Given the description of an element on the screen output the (x, y) to click on. 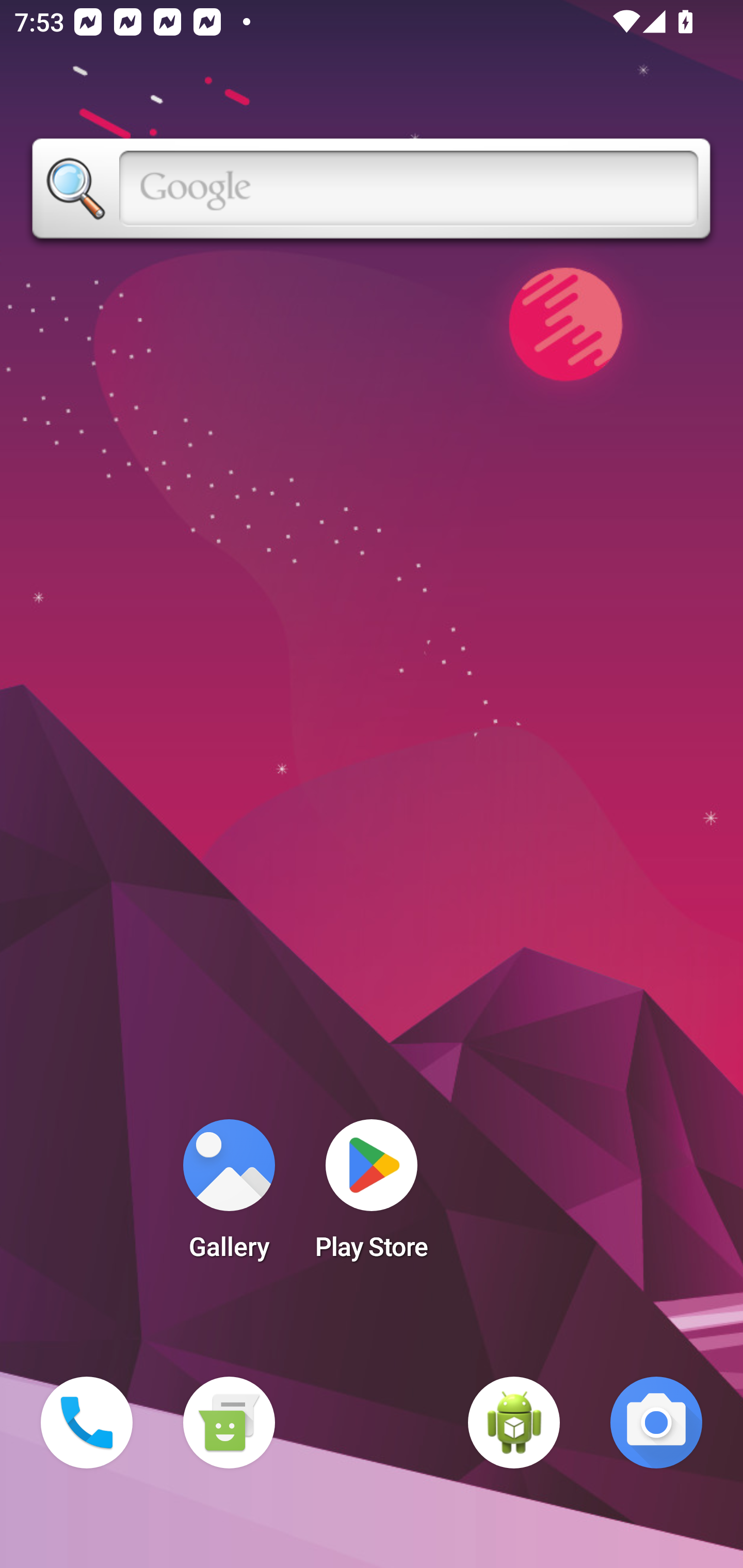
Gallery (228, 1195)
Play Store (371, 1195)
Phone (86, 1422)
Messaging (228, 1422)
WebView Browser Tester (513, 1422)
Camera (656, 1422)
